Given the description of an element on the screen output the (x, y) to click on. 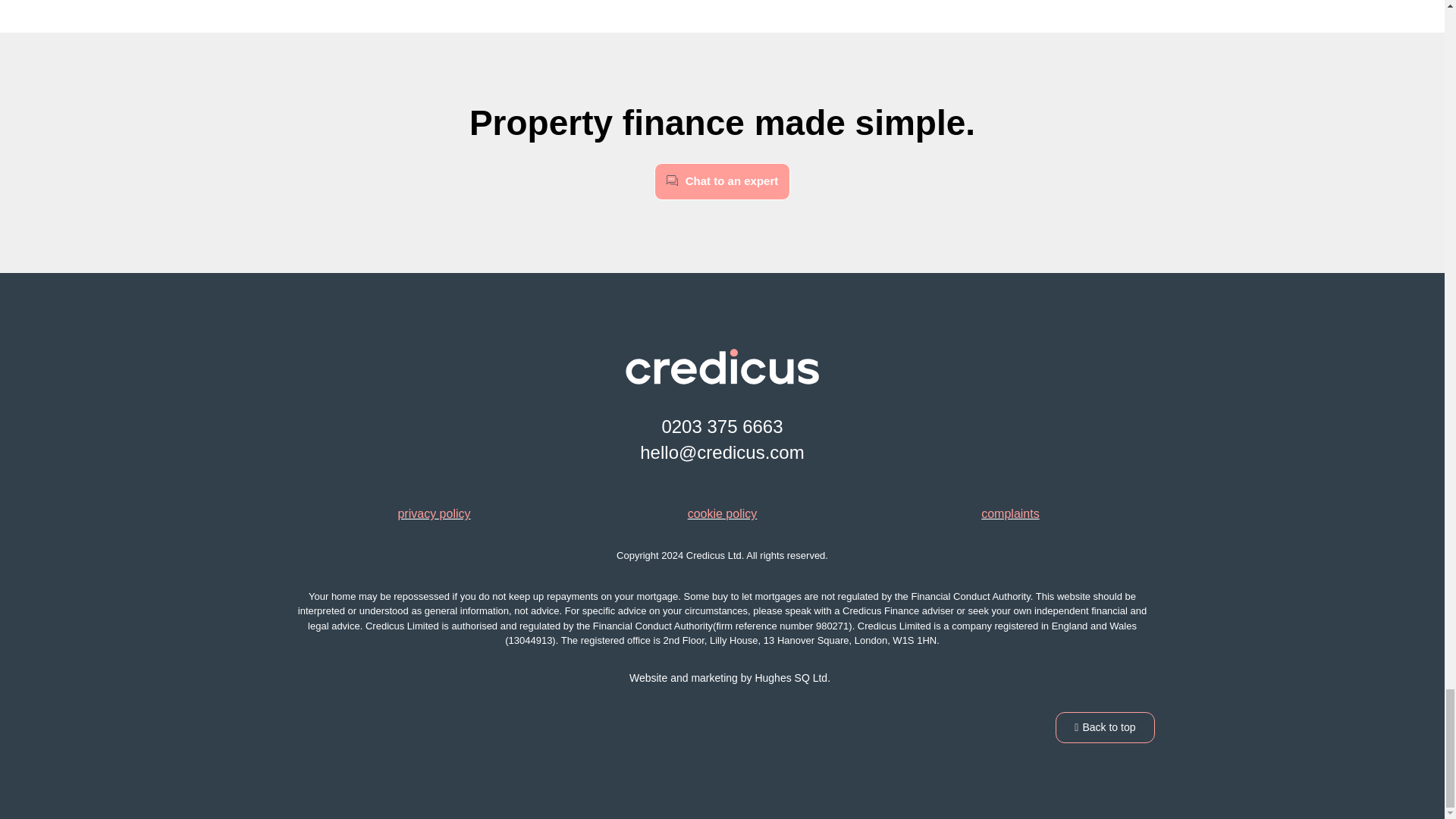
cookie policy (722, 513)
Chat to an expert (721, 180)
complaints (1010, 513)
Back to top (1104, 726)
privacy policy (433, 513)
